Given the description of an element on the screen output the (x, y) to click on. 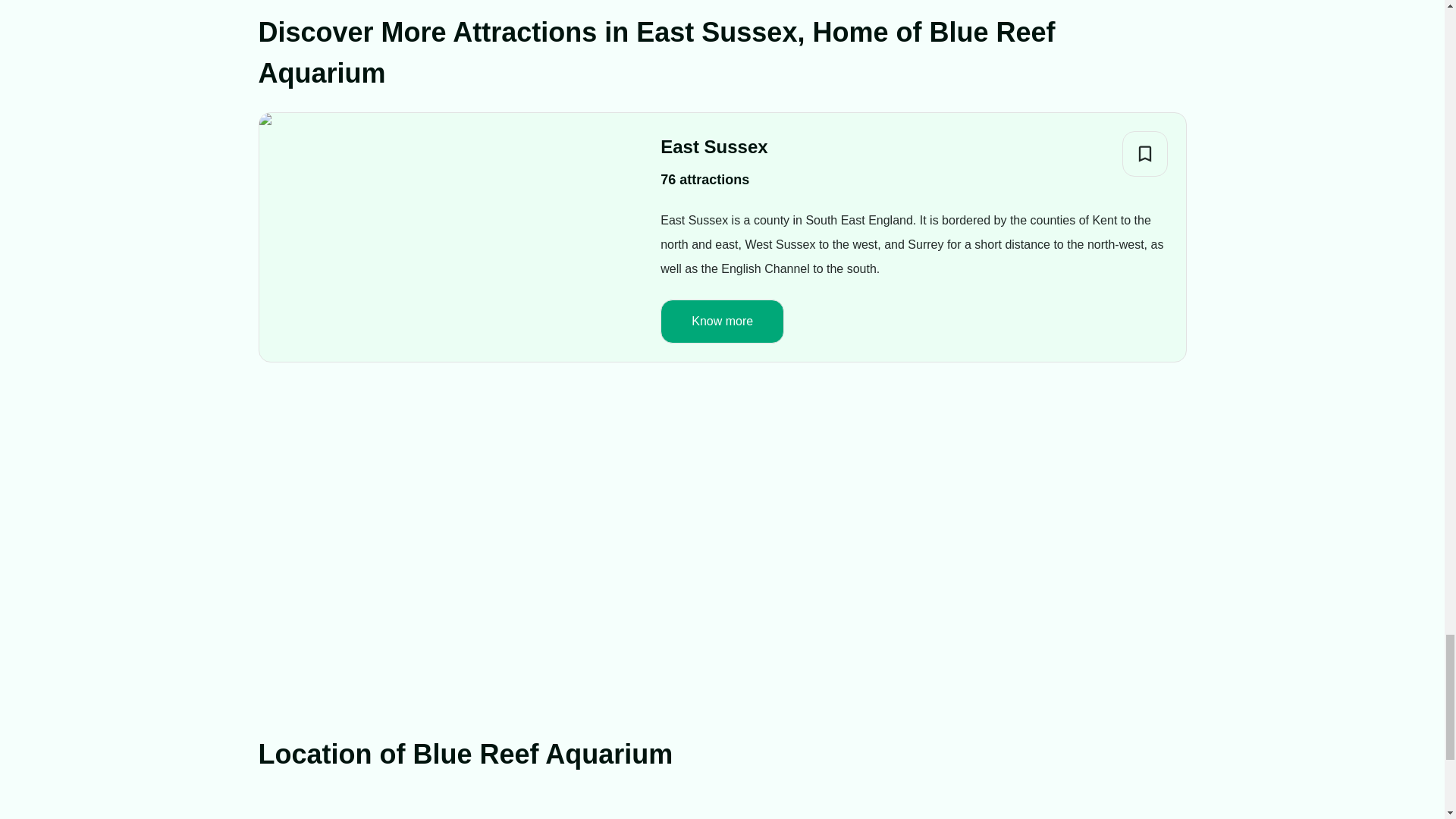
Add to Bucket List (1144, 153)
